Given the description of an element on the screen output the (x, y) to click on. 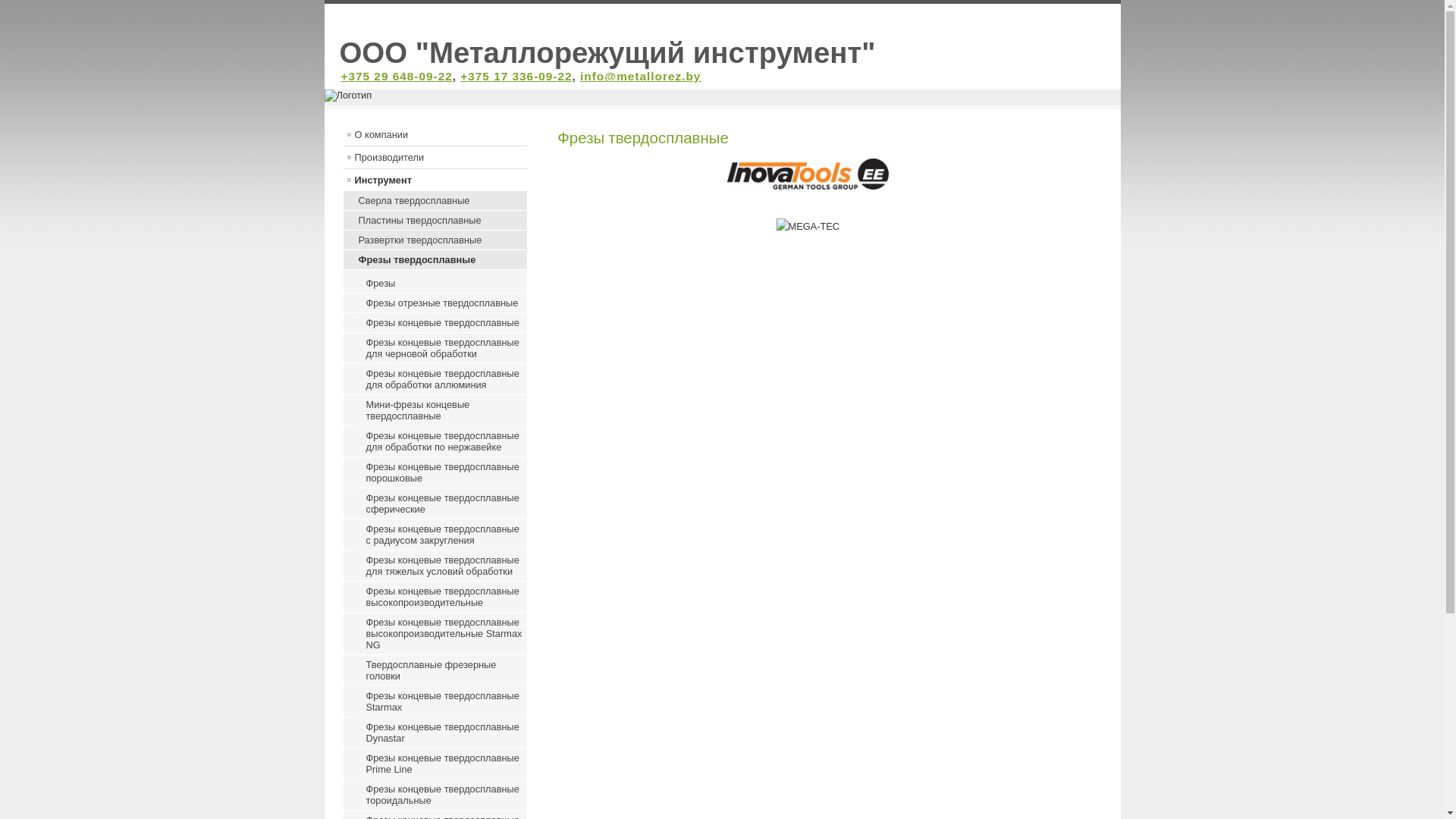
Inovatools Element type: hover (807, 173)
+375 29 648-09-22 Element type: text (396, 75)
info@metallorez.by Element type: text (640, 75)
+375 17 336-09-22 Element type: text (515, 75)
MEGA-TEC Element type: hover (808, 226)
